Given the description of an element on the screen output the (x, y) to click on. 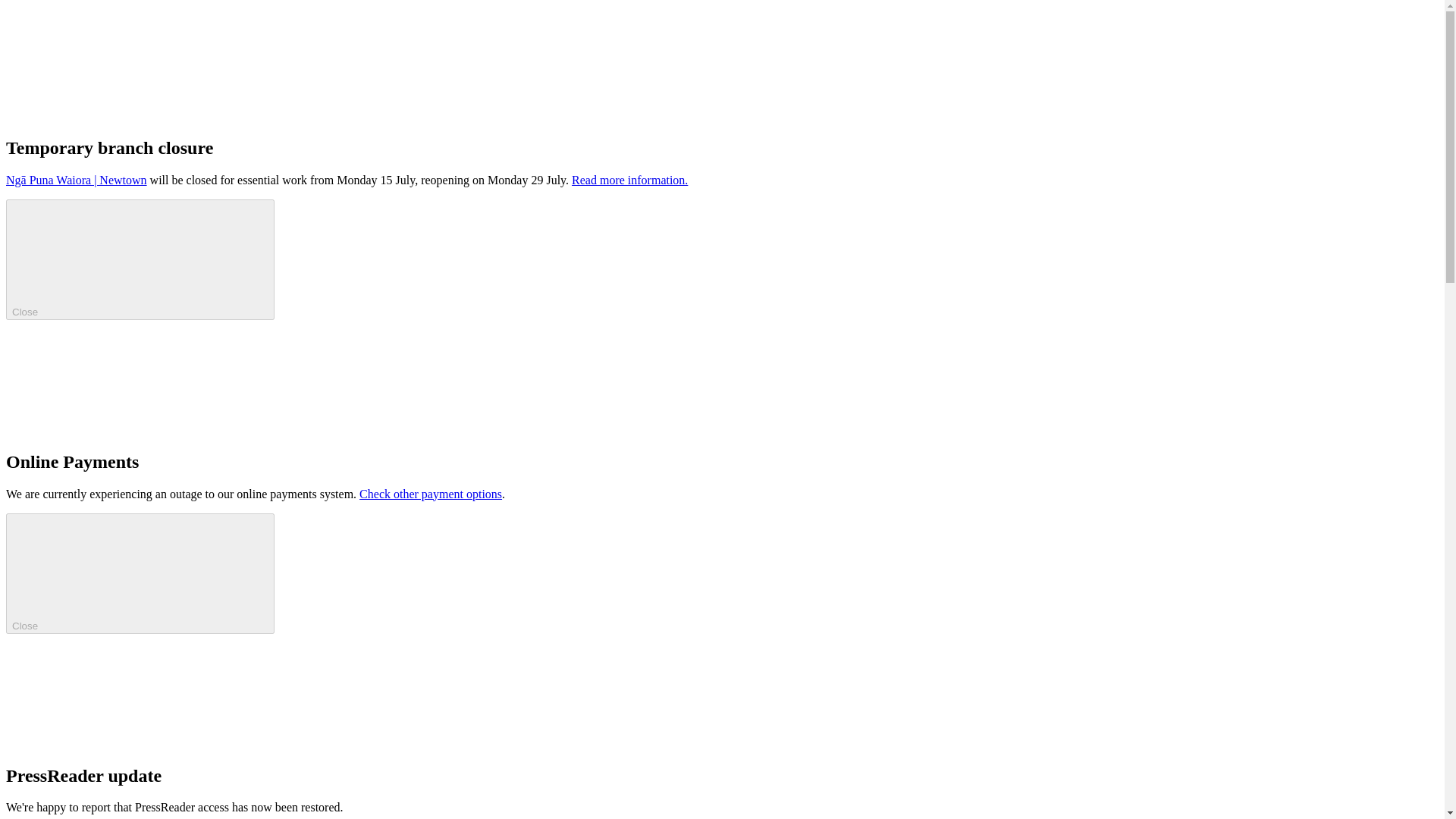
Read more information. (629, 179)
Close (140, 573)
Close (140, 259)
Check other payment options (430, 493)
